Given the description of an element on the screen output the (x, y) to click on. 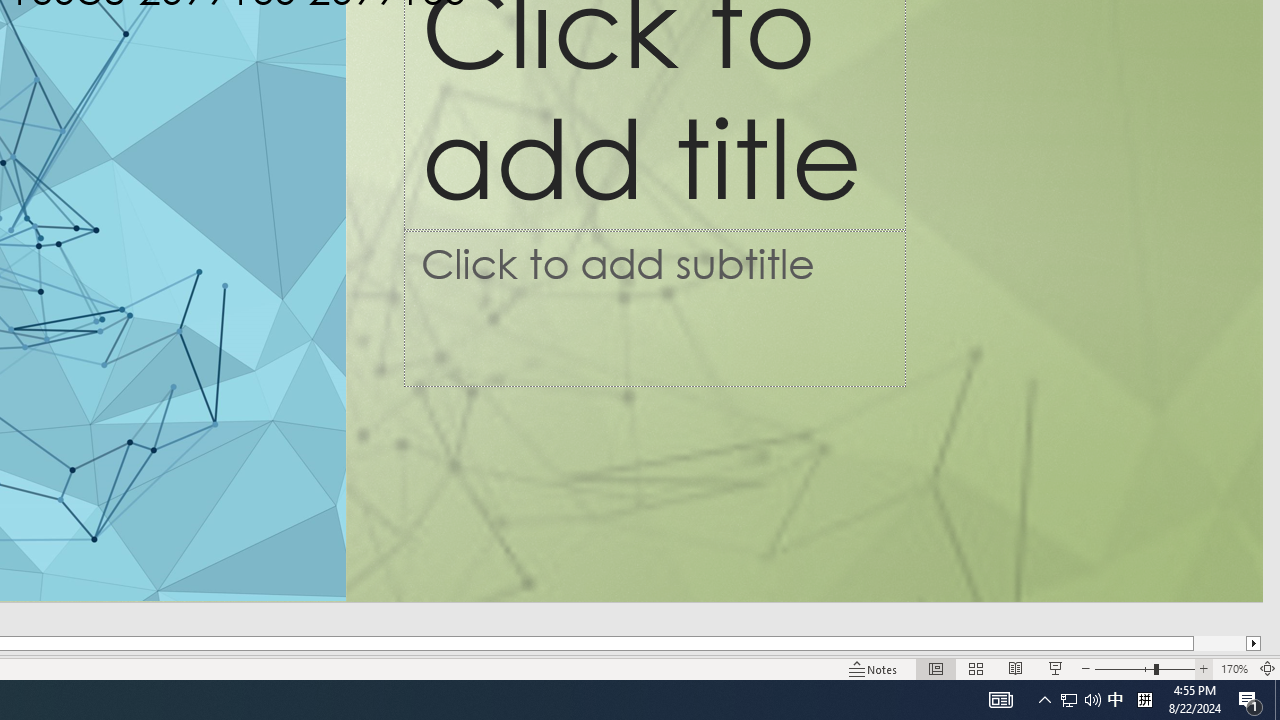
Slide Show (1055, 668)
Reading View (1015, 668)
Normal (936, 668)
Zoom to Fit  (1267, 668)
Zoom (1144, 668)
Zoom In (1204, 668)
Slide Sorter (975, 668)
Zoom Out (1124, 668)
Notes  (874, 668)
Zoom 170% (1234, 668)
